Given the description of an element on the screen output the (x, y) to click on. 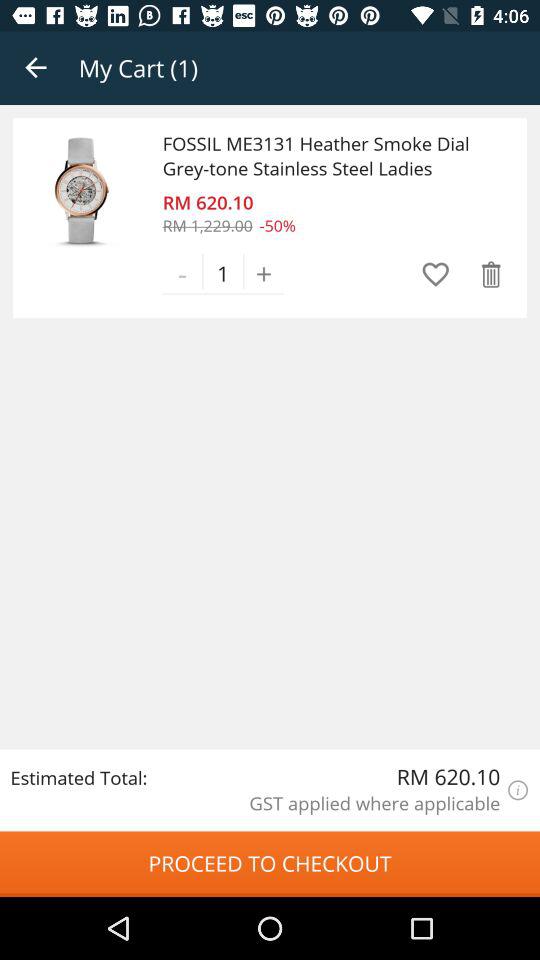
open fossil me3131 heather (327, 155)
